Given the description of an element on the screen output the (x, y) to click on. 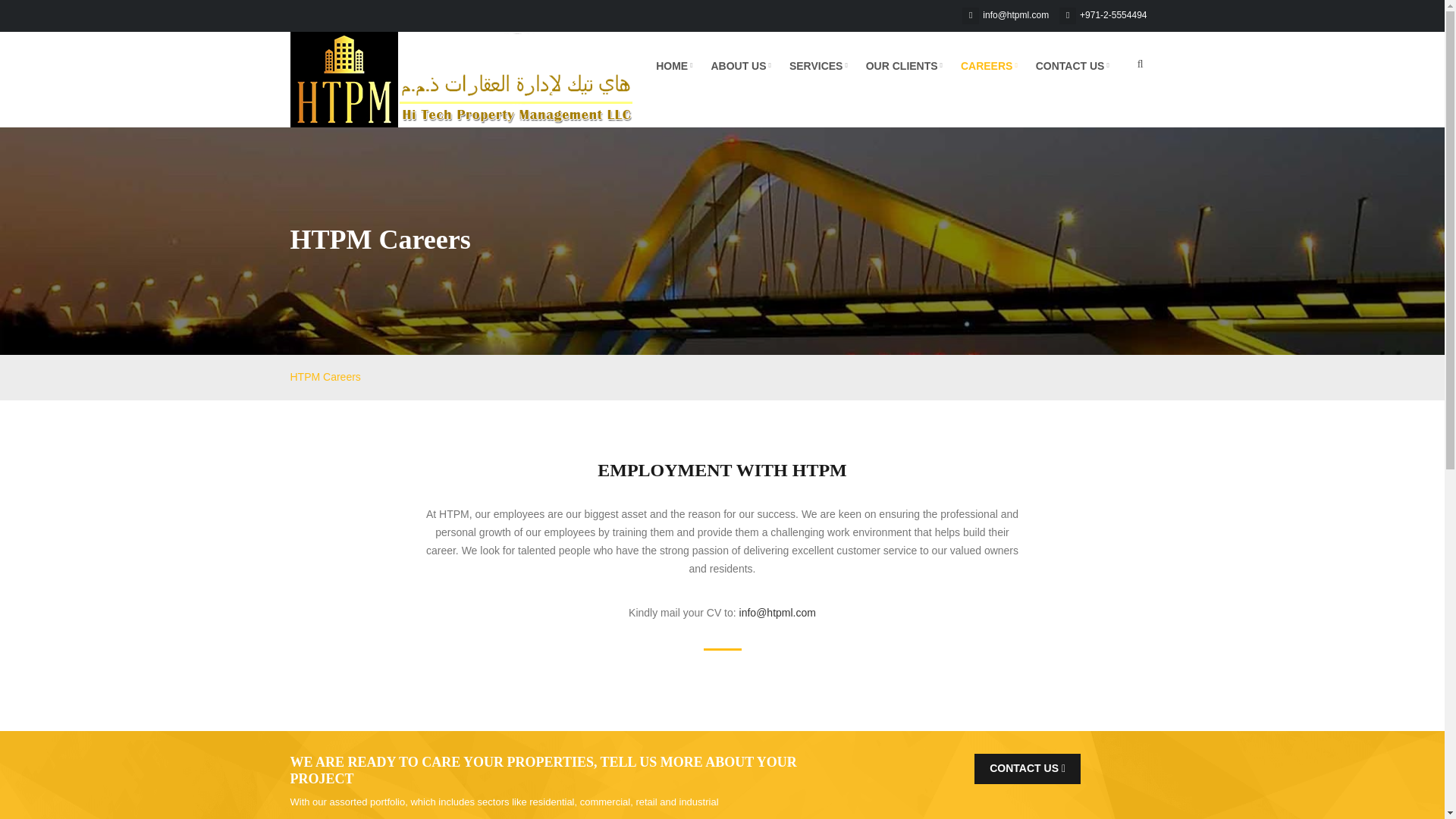
SERVICES (818, 65)
CONTACT US (1072, 65)
CONTACT US (1027, 768)
OUR CLIENTS (904, 65)
ABOUT US (739, 65)
HTPM Careers (324, 377)
CAREERS (989, 65)
